Given the description of an element on the screen output the (x, y) to click on. 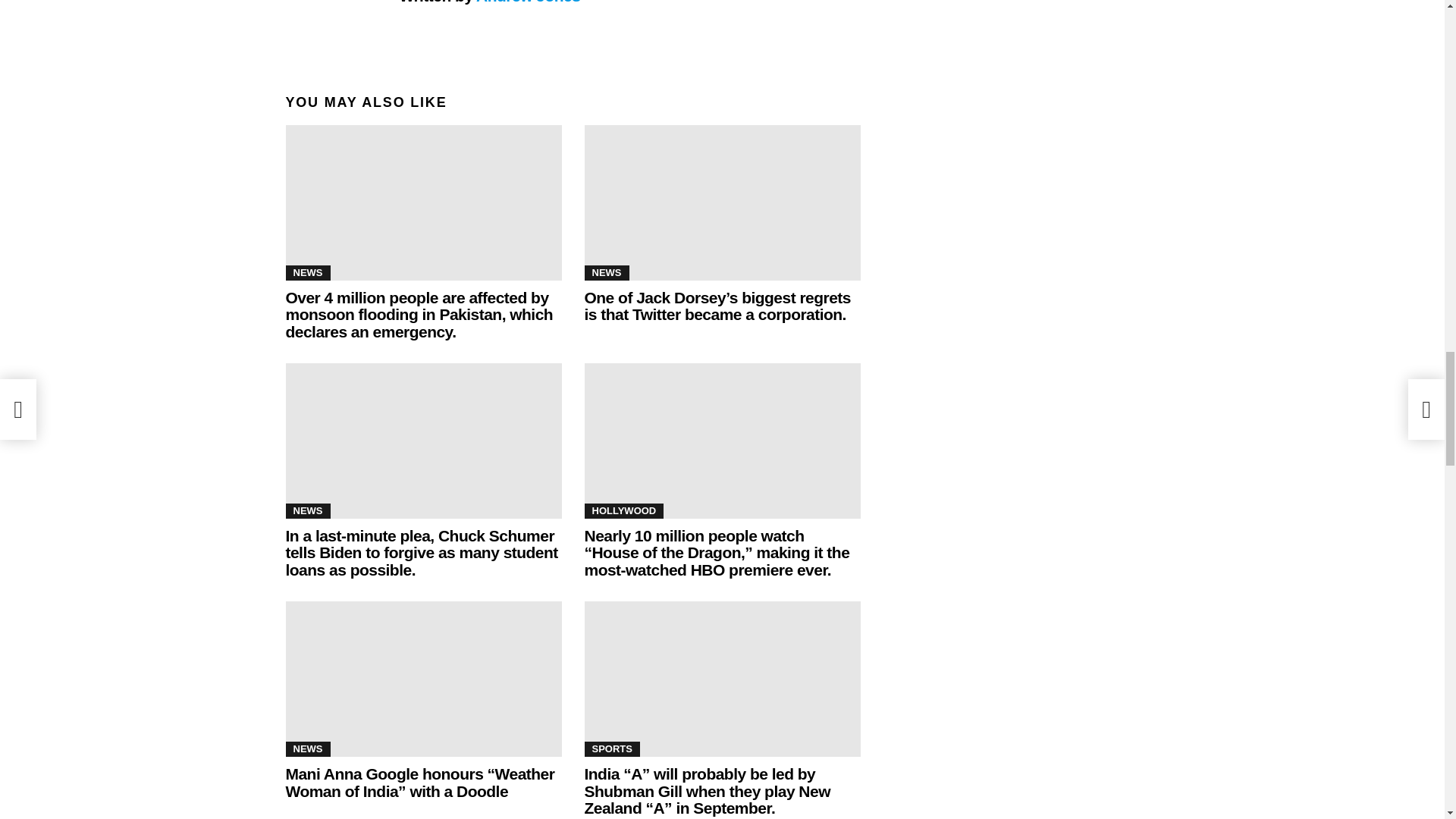
NEWS (307, 510)
NEWS (307, 272)
NEWS (605, 272)
Andrew Jones (527, 2)
